Given the description of an element on the screen output the (x, y) to click on. 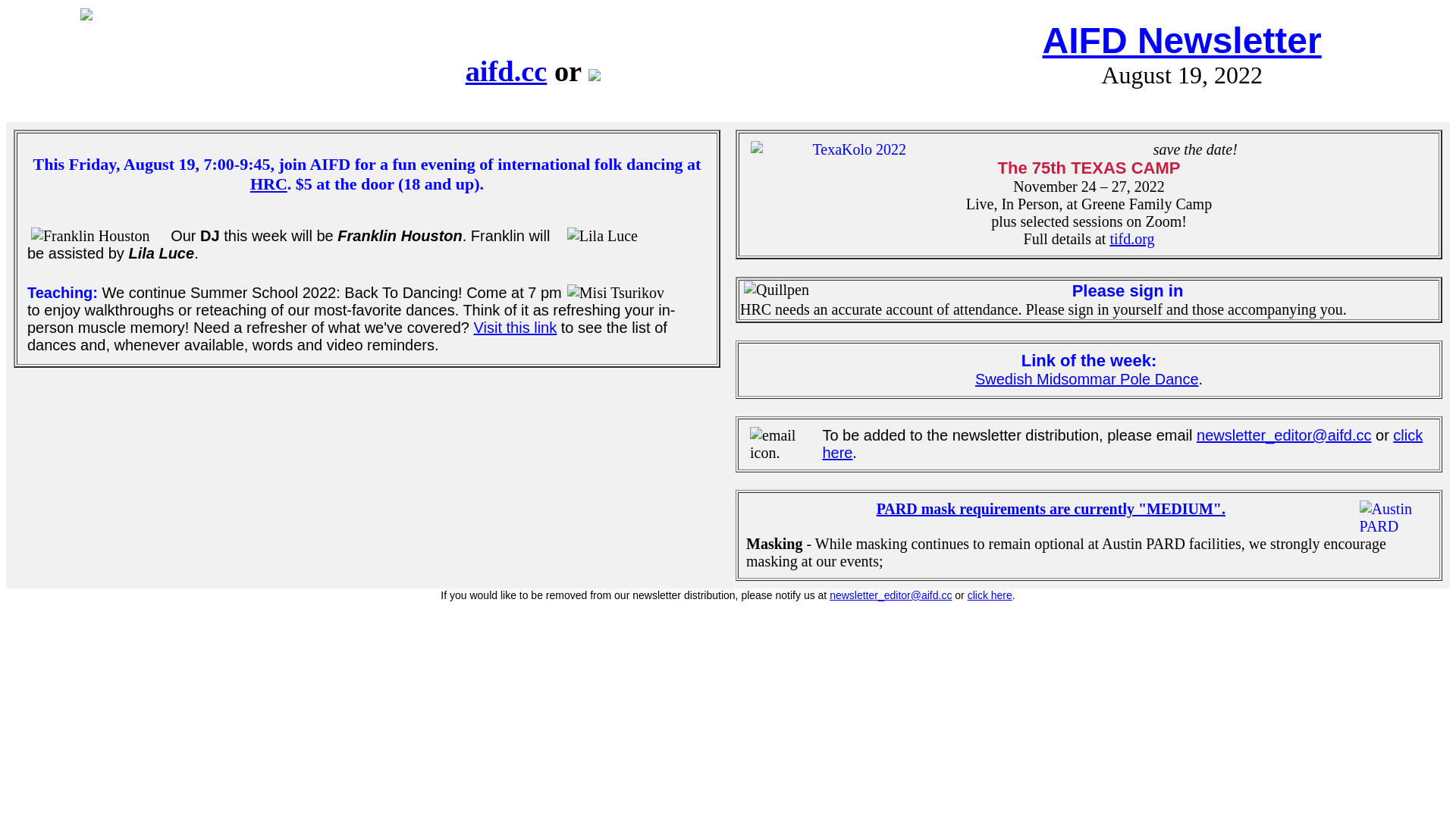
newsletter_editor@aifd.cc Element type: text (1283, 434)
tifd.org Element type: text (1131, 238)
Swedish Midsommar Pole Dance Element type: text (1086, 378)
email icon Element type: hover (783, 443)
Visit this link Element type: text (515, 327)
click here Element type: text (1122, 443)
newsletter_editor@aifd.cc Element type: text (890, 595)
Lila Luce Element type: hover (634, 235)
aifd.cc Element type: text (506, 71)
Austin PARD Element type: hover (1393, 517)
Franklin Houston Element type: hover (98, 235)
click here Element type: text (989, 595)
HRC Element type: text (268, 183)
Misi Tsurikov Element type: hover (634, 292)
TexaKolo 2022 Element type: hover (853, 149)
PARD mask requirements are currently "MEDIUM". Element type: text (1050, 508)
